Given the description of an element on the screen output the (x, y) to click on. 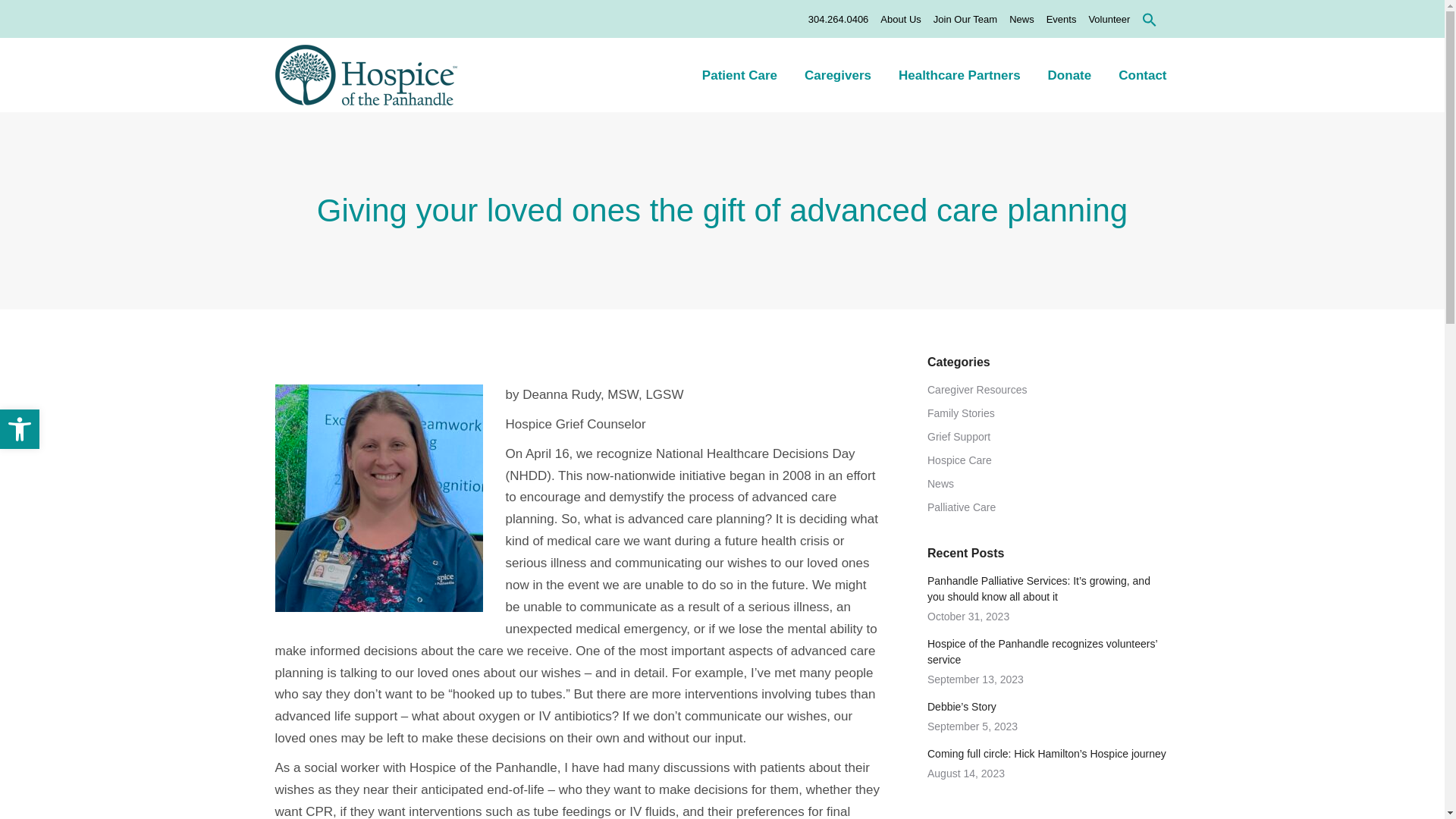
Donate (1069, 74)
Accessibility Tools (19, 428)
Join Our Team (965, 19)
Contact (1142, 74)
Volunteer (1108, 19)
304.264.0406 (838, 19)
Caregivers (838, 74)
Healthcare Partners (959, 74)
